Given the description of an element on the screen output the (x, y) to click on. 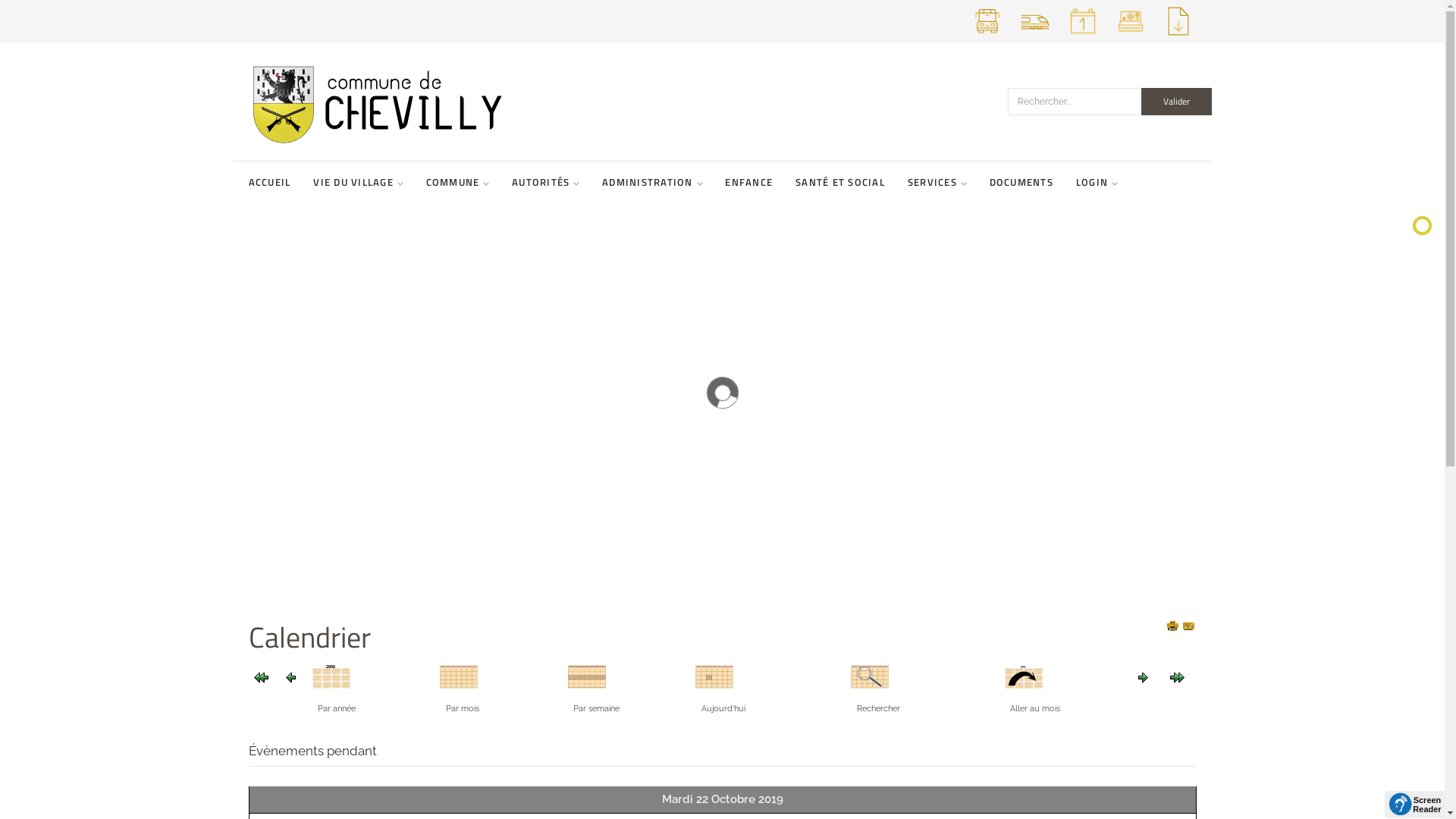
Imprimer Element type: hover (1173, 626)
DOCUMENTS Element type: text (1021, 182)
ADMINISTRATION Element type: text (652, 182)
ACCUEIL Element type: text (269, 182)
Rechercher Element type: hover (869, 676)
Par semaine Element type: hover (586, 676)
Jour suivant Element type: hover (1143, 677)
Commune de Chevilly Element type: hover (464, 101)
Mois suivant Element type: hover (1177, 677)
Valider Element type: text (1175, 101)
horaires de trains Element type: hover (1034, 36)
EMAIL Element type: hover (1189, 626)
agenda Element type: hover (1082, 36)
horaires de bus Element type: hover (987, 36)
Aller au mois Element type: hover (1023, 676)
COMMUNE Element type: text (457, 182)
ENFANCE Element type: text (748, 182)
Aujourd'hui Element type: hover (714, 676)
Par mois Element type: hover (458, 676)
documents Element type: hover (1178, 36)
photos d'antan Element type: hover (1129, 36)
